Given the description of an element on the screen output the (x, y) to click on. 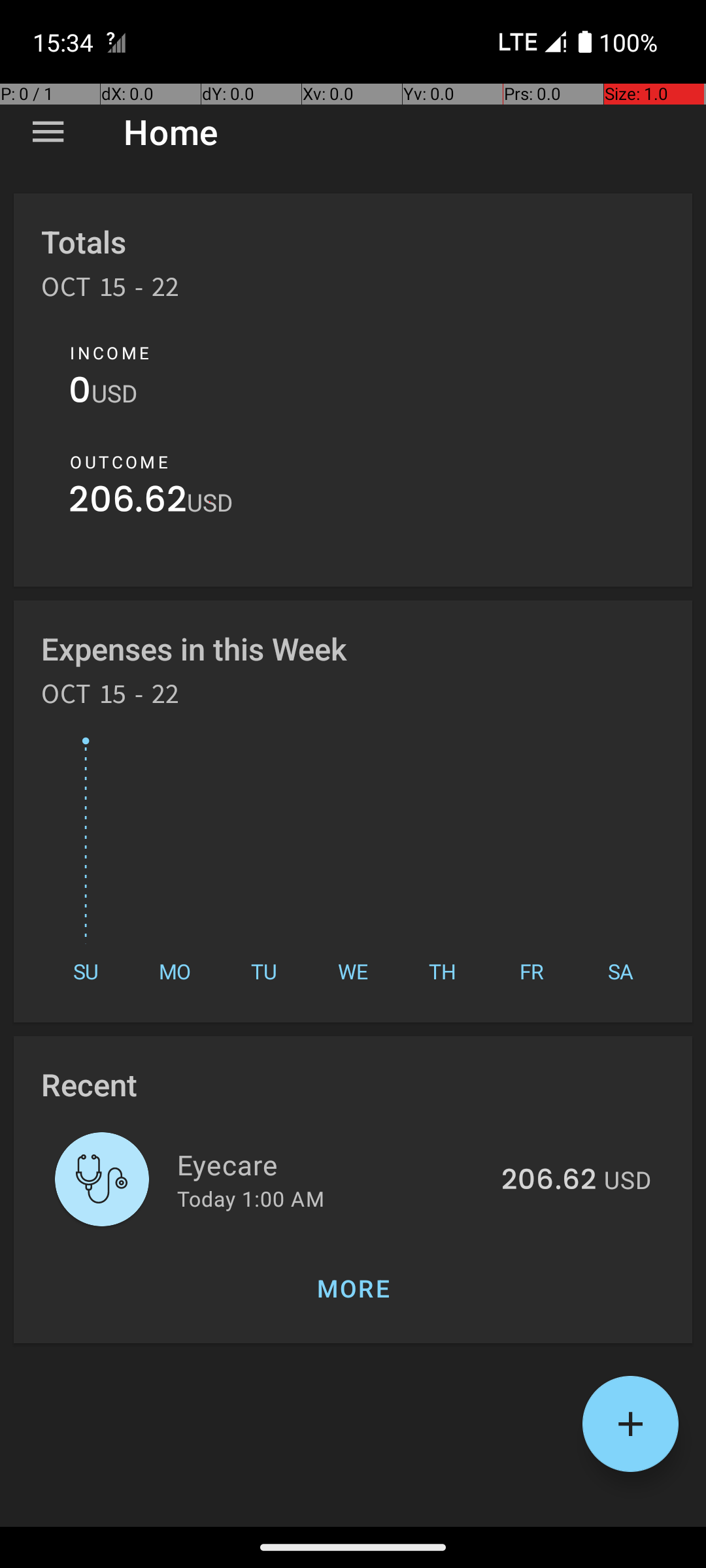
206.62 Element type: android.widget.TextView (127, 502)
Eyecare Element type: android.widget.TextView (331, 1164)
Today 1:00 AM Element type: android.widget.TextView (250, 1198)
